Given the description of an element on the screen output the (x, y) to click on. 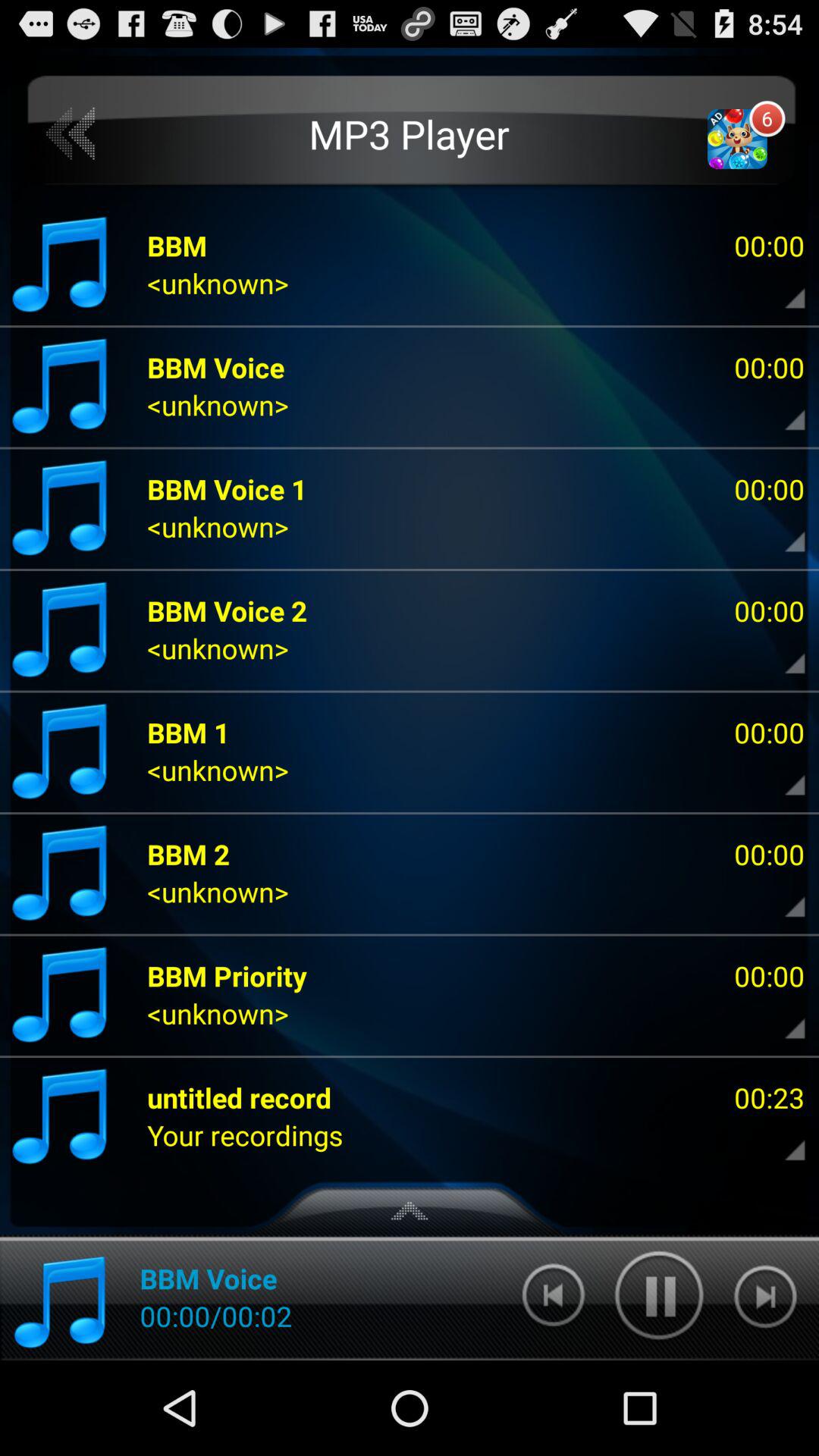
press icon above the <unknown> item (227, 975)
